Given the description of an element on the screen output the (x, y) to click on. 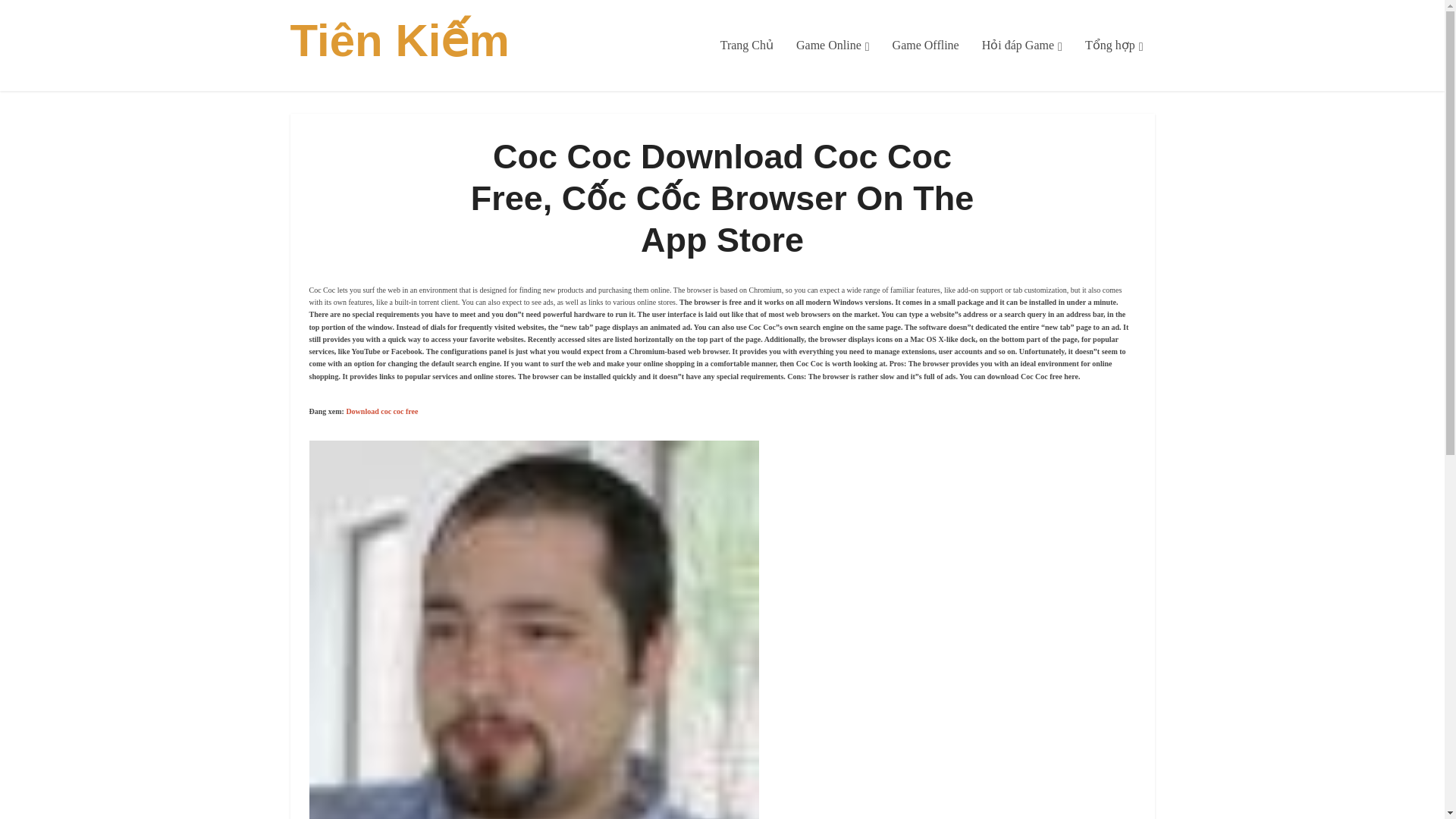
download coc coc free (381, 411)
Game Offline (925, 45)
Game Online (832, 45)
Download coc coc free (381, 411)
